Given the description of an element on the screen output the (x, y) to click on. 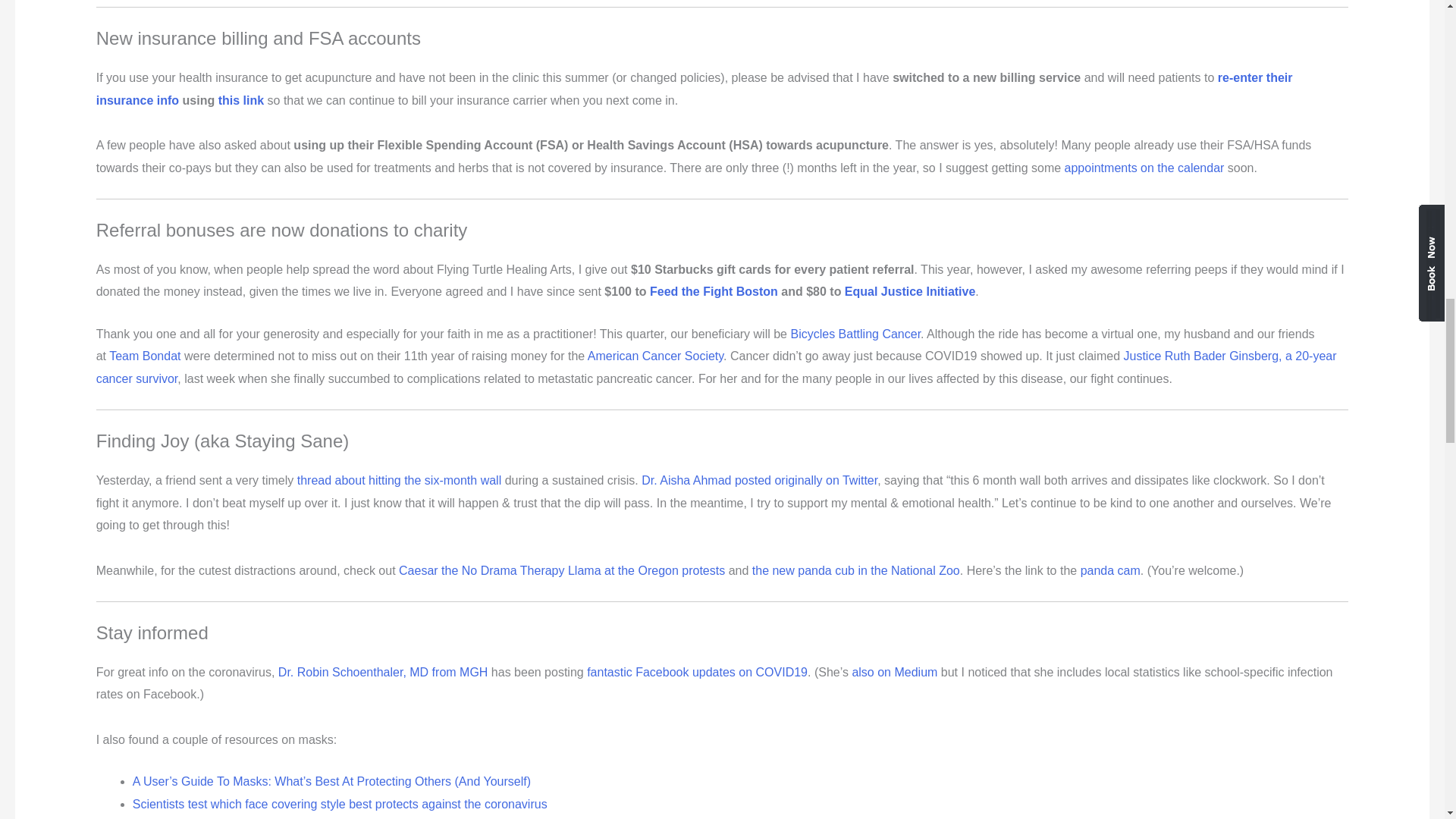
Feed the Fight Boston (713, 291)
Team Bondat (144, 355)
American Cancer Society (655, 355)
thread about hitting the six-month wall (398, 480)
Equal Justice Initiative (909, 291)
Justice Ruth Bader Ginsberg, a 20-year cancer survivor (716, 366)
re-enter their insurance info (694, 89)
Bicycles Battling Cancer (855, 333)
appointments on the calendar (1144, 167)
this link (240, 100)
Dr. Aisha Ahmad posted originally on Twitter (759, 480)
